Given the description of an element on the screen output the (x, y) to click on. 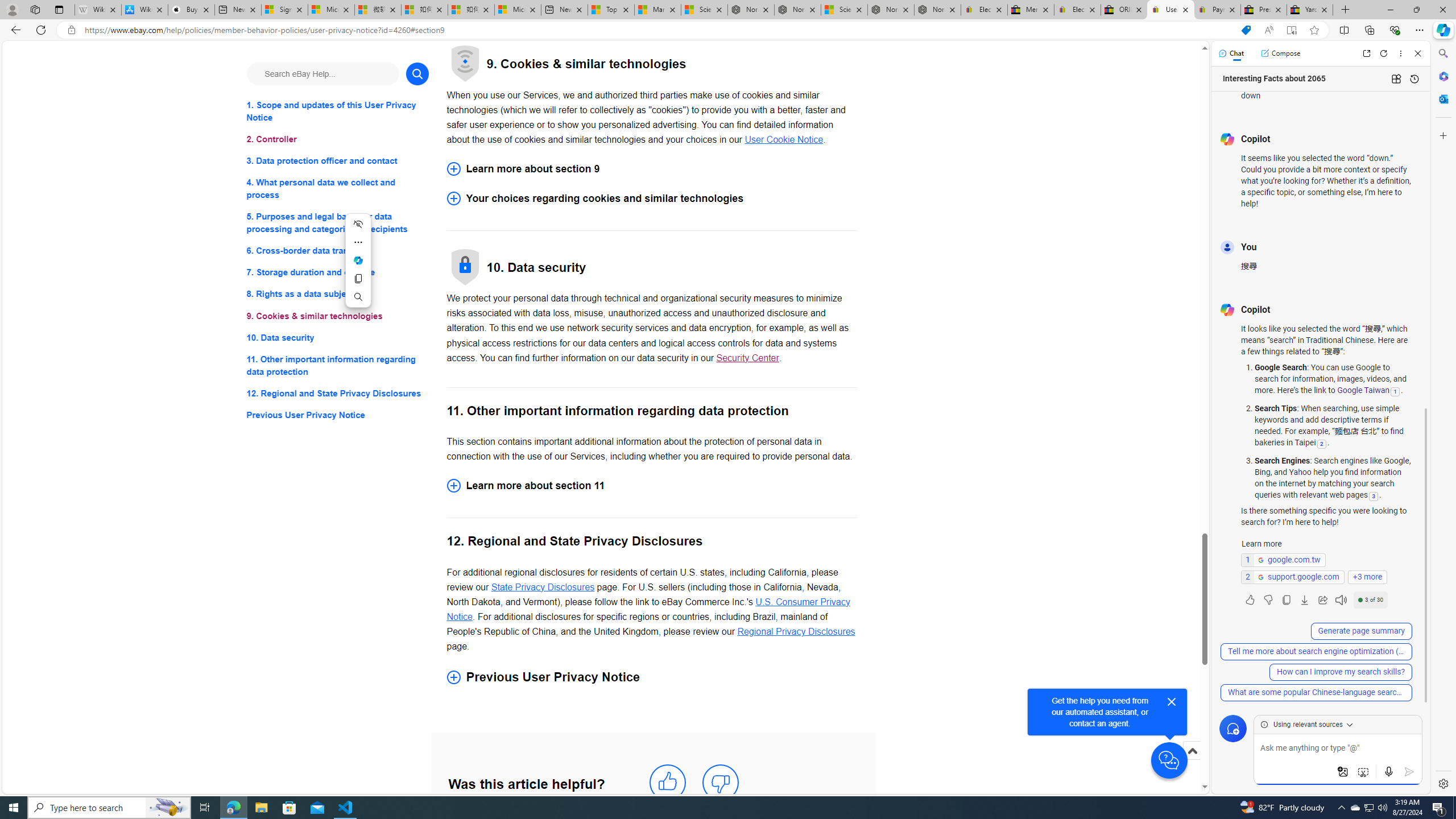
7. Storage duration and erasure (337, 272)
4. What personal data we collect and process (337, 189)
Search eBay Help... (322, 73)
6. Cross-border data transfers (337, 250)
7. Storage duration and erasure (337, 272)
9. Cookies & similar technologies (337, 315)
Buy iPad - Apple (191, 9)
3. Data protection officer and contact (337, 160)
